Given the description of an element on the screen output the (x, y) to click on. 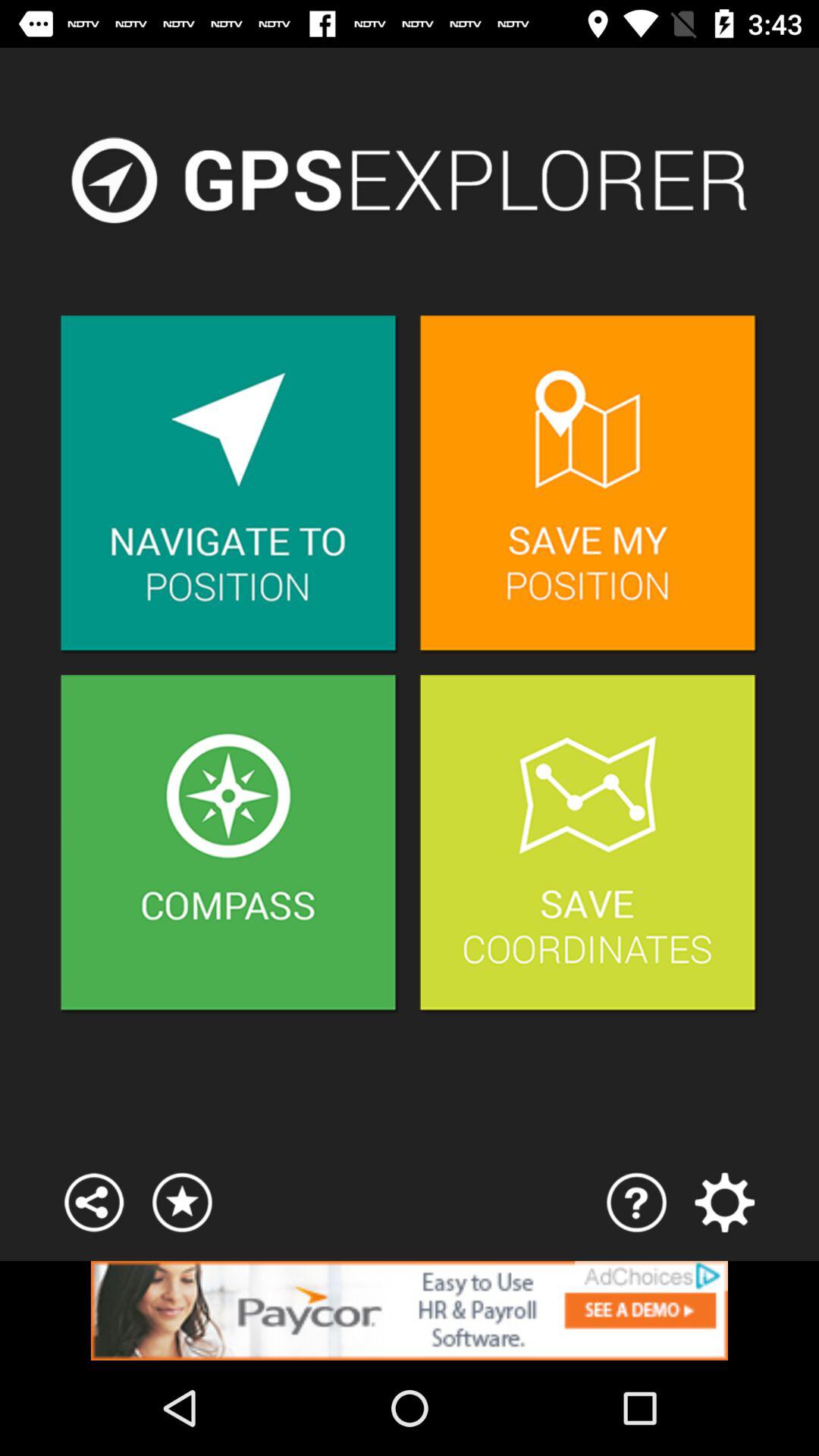
favorite (182, 1202)
